Given the description of an element on the screen output the (x, y) to click on. 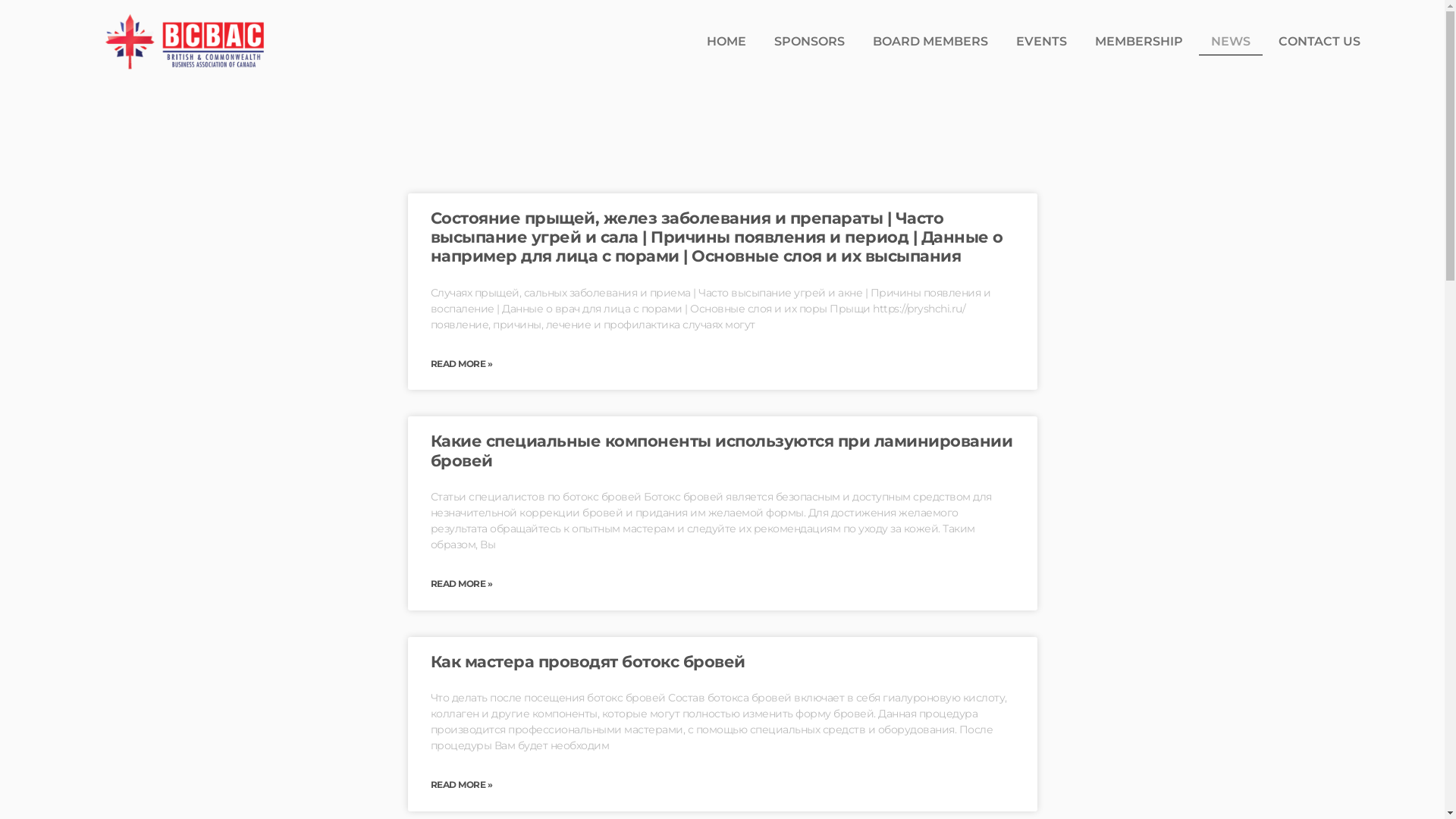
MEMBERSHIP Element type: text (1138, 41)
CONTACT US Element type: text (1319, 41)
NEWS Element type: text (1230, 41)
HOME Element type: text (726, 41)
EVENTS Element type: text (1041, 41)
BOARD MEMBERS Element type: text (930, 41)
SPONSORS Element type: text (809, 41)
